Given the description of an element on the screen output the (x, y) to click on. 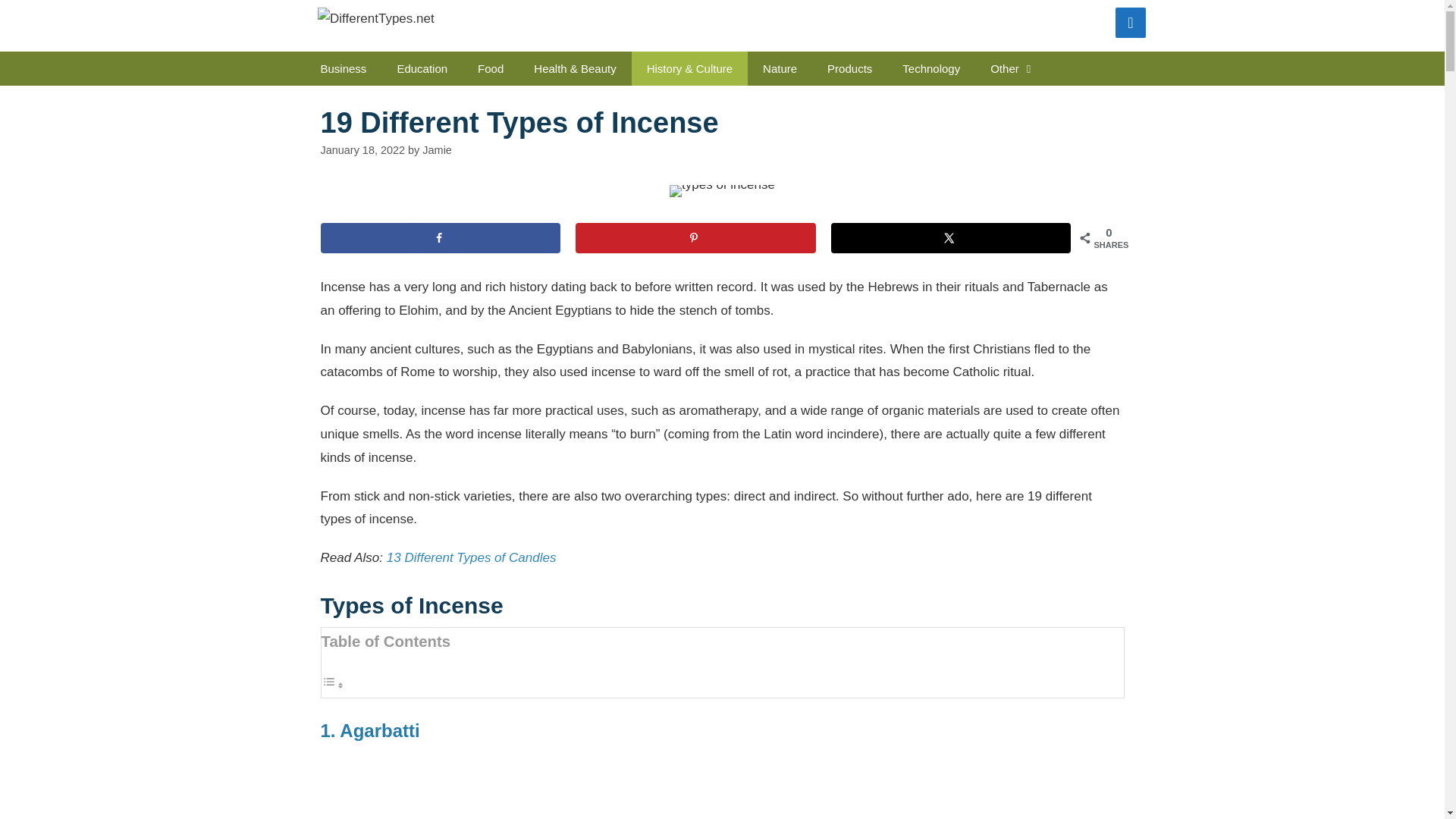
Other (1013, 68)
Share on X (951, 237)
View all posts by Jamie (436, 150)
Save to Pinterest (695, 237)
13 Different Types of Candles (471, 557)
Jamie (436, 150)
Business (342, 68)
Food (490, 68)
Education (422, 68)
Nature (780, 68)
Products (849, 68)
Share on Facebook (440, 237)
Technology (930, 68)
Facebook (1130, 22)
